Given the description of an element on the screen output the (x, y) to click on. 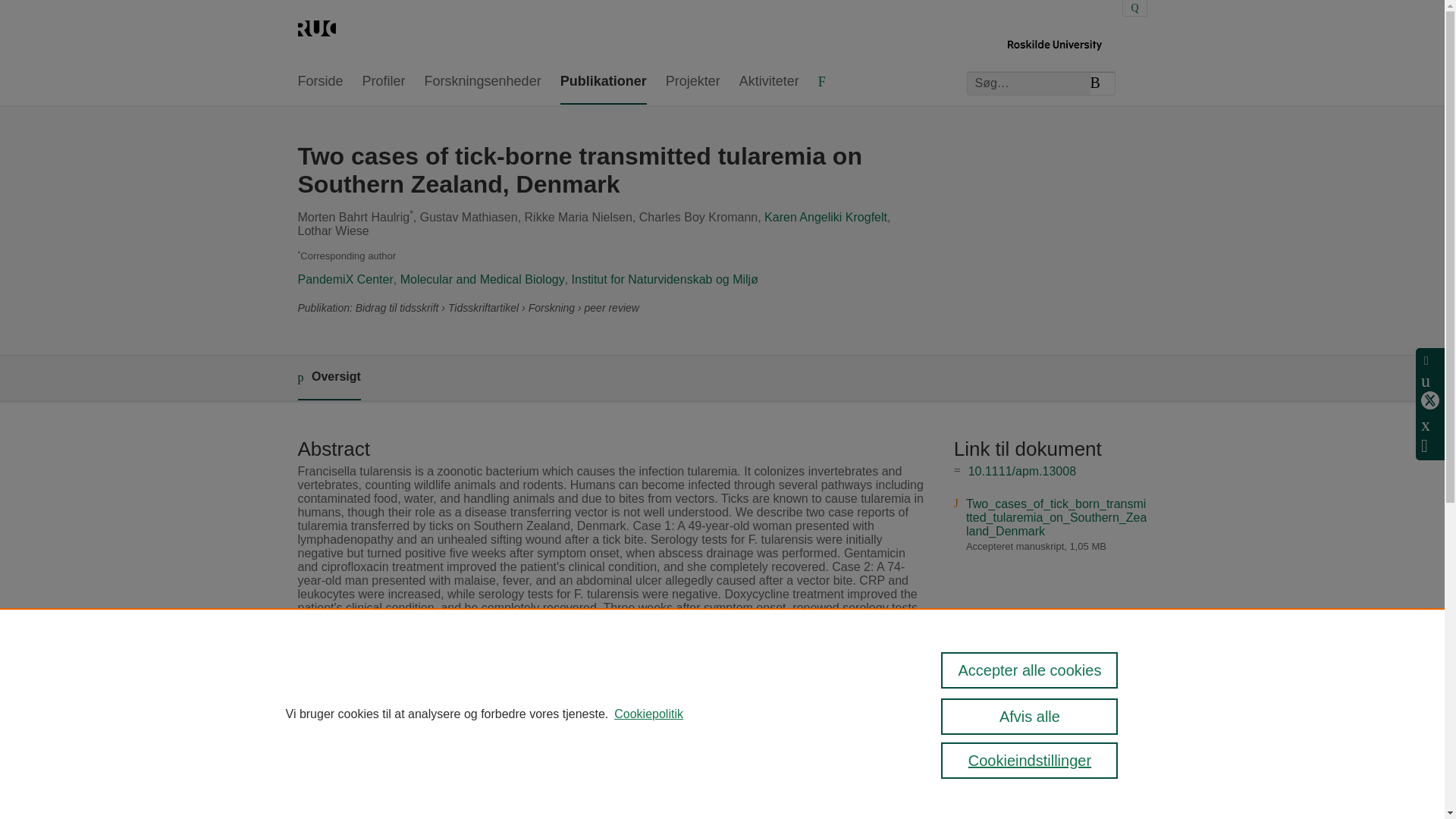
Roskilde Universitets forskningsportal Forside (315, 29)
Karen Angeliki Krogfelt (825, 216)
Oversigt (328, 377)
Forskningsenheder (483, 81)
Profiler (384, 81)
PandemiX Center (345, 278)
Aktiviteter (769, 81)
Forside (319, 81)
APMIS - Journal of Pathology, Microbiology and Immunology (666, 676)
